Given the description of an element on the screen output the (x, y) to click on. 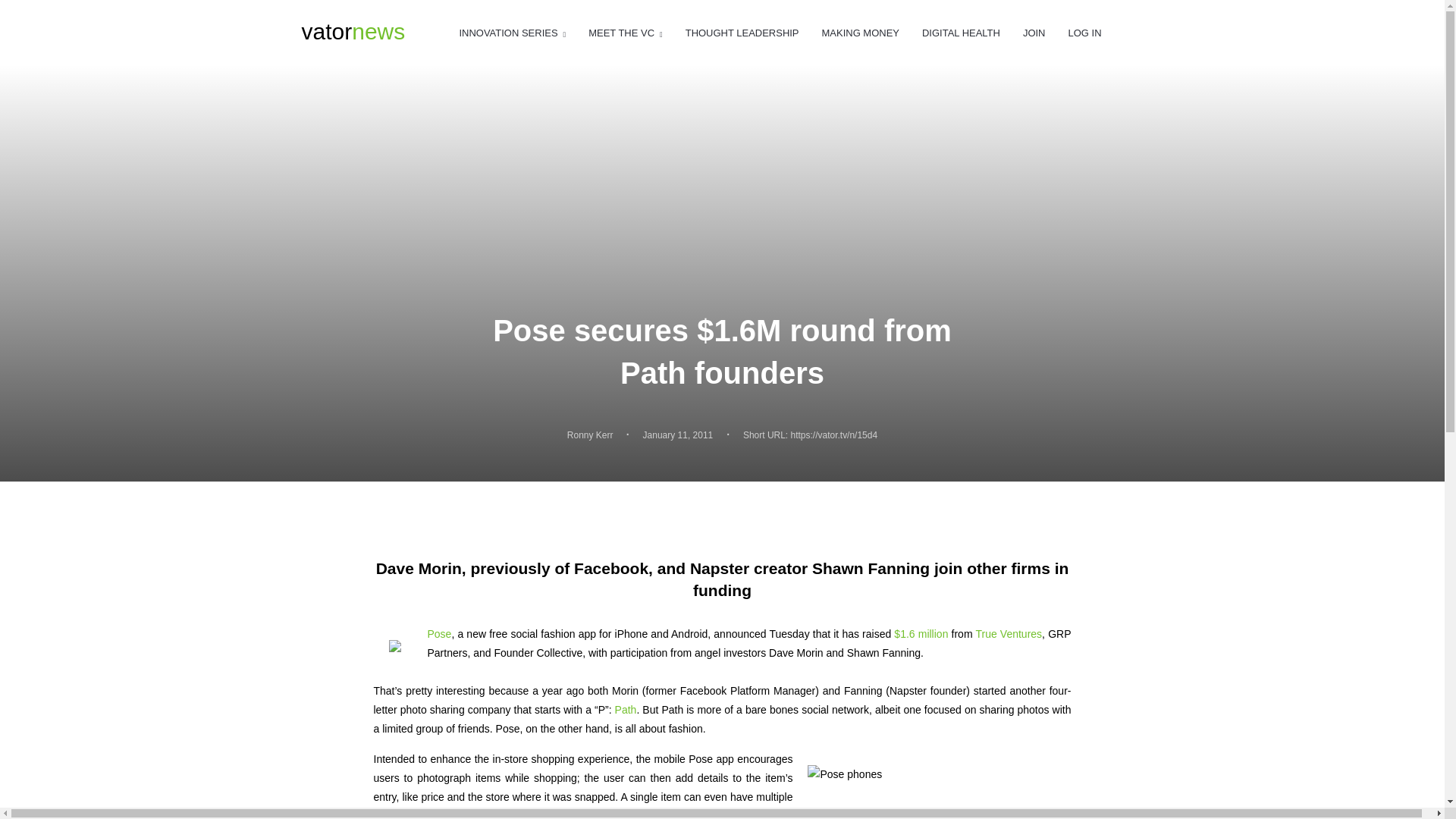
DIGITAL HEALTH (960, 33)
Pose (399, 647)
THOUGHT LEADERSHIP (742, 33)
Ronny Kerr (589, 434)
Pose phones (931, 784)
MAKING MONEY (860, 33)
INNOVATION SERIES (512, 33)
LOG IN (1083, 33)
True Ventures (1008, 633)
Path (353, 32)
Pose (625, 709)
MEET THE VC (439, 633)
